Given the description of an element on the screen output the (x, y) to click on. 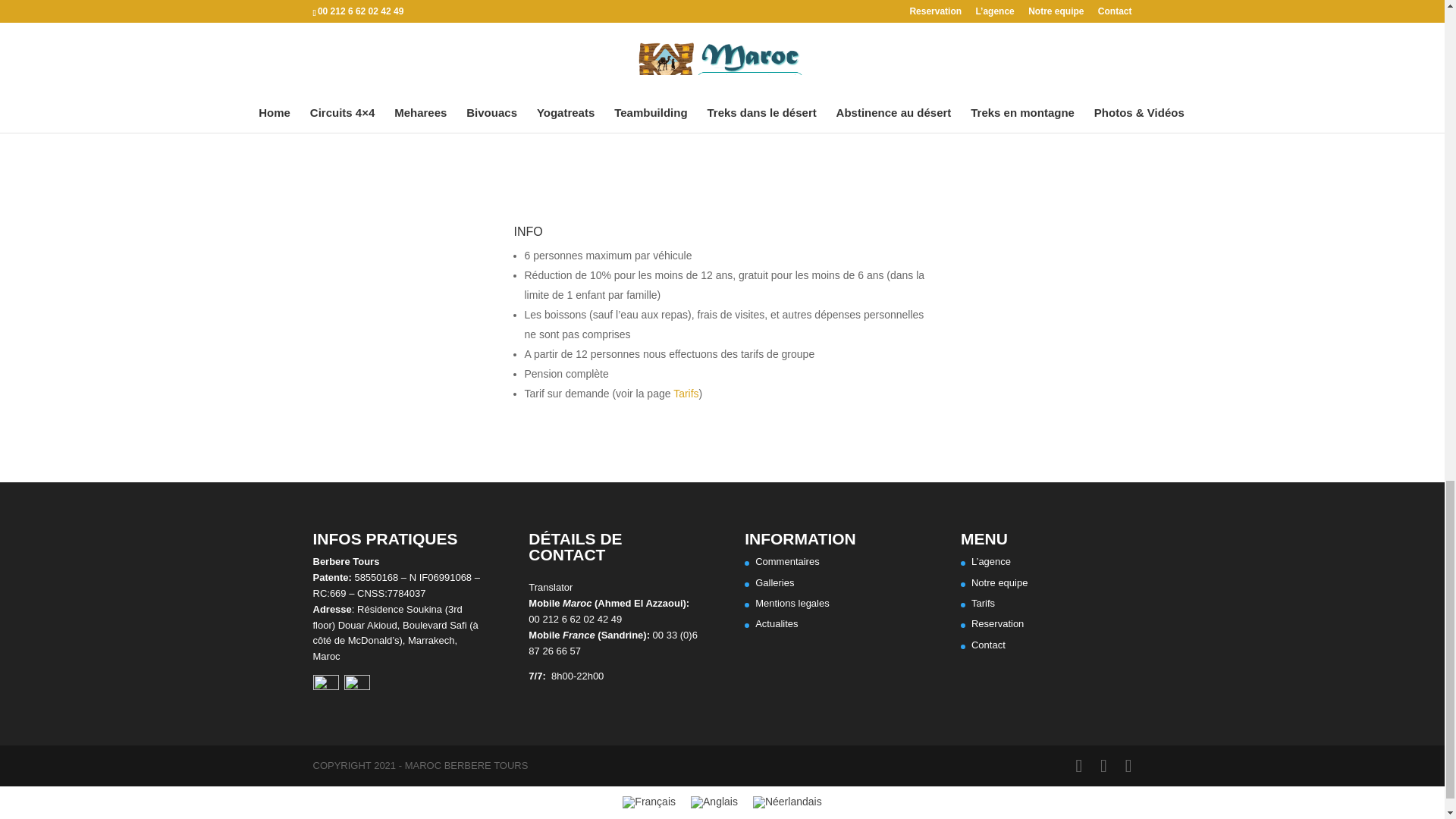
Tarifs (982, 603)
Reservation (997, 623)
Tarifs (685, 393)
Mentions legales (792, 603)
Commentaires (787, 561)
Actualites (776, 623)
Contact (988, 644)
Galleries (774, 582)
Notre equipe (999, 582)
